Given the description of an element on the screen output the (x, y) to click on. 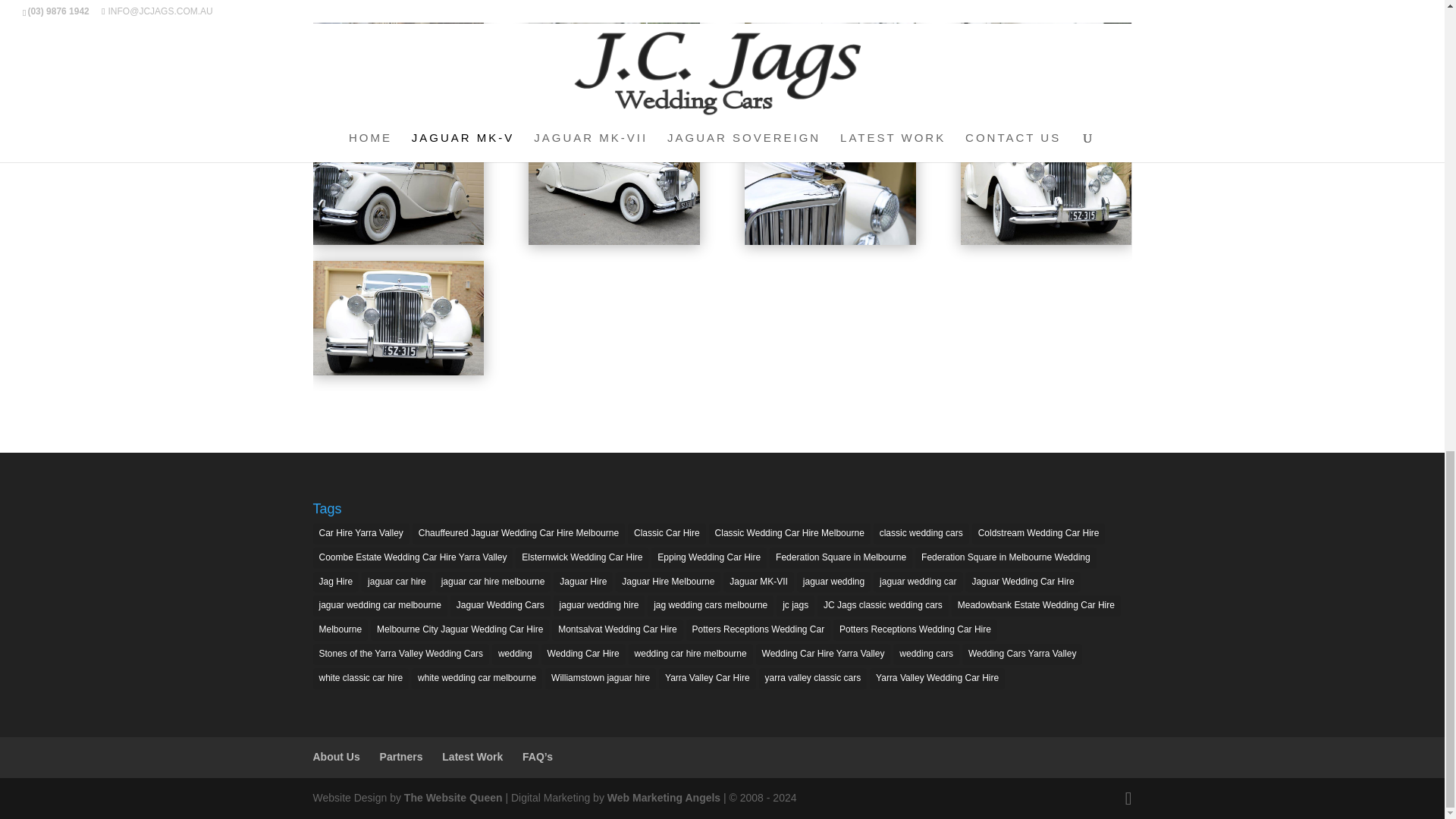
Chauffeured Jaguar Wedding Car Hire Melbourne (518, 533)
classic wedding cars (921, 533)
Car Hire Yarra Valley (361, 533)
Classic Wedding Car Hire Melbourne (789, 533)
Classic Car Hire (666, 533)
